Given the description of an element on the screen output the (x, y) to click on. 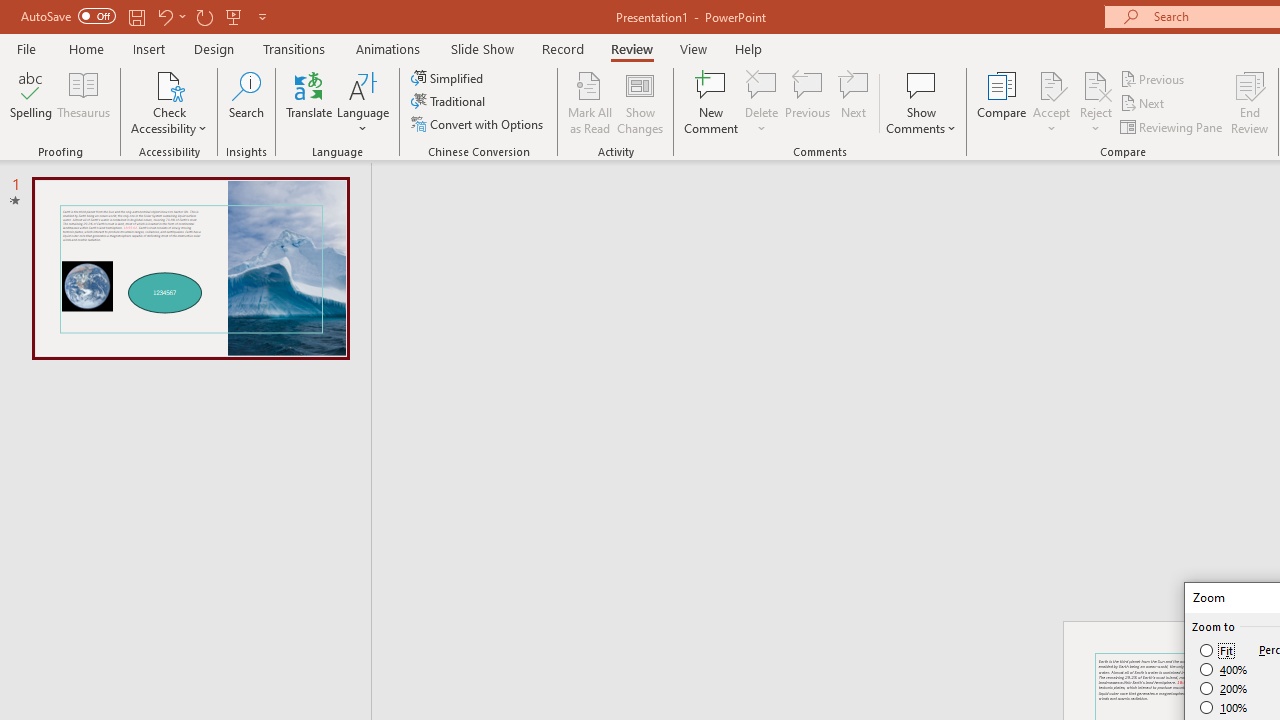
Language (363, 102)
Fit (1217, 650)
200% (1224, 688)
Show Comments (921, 84)
New Comment (711, 102)
Delete (762, 102)
Simplified (449, 78)
Accept Change (1051, 84)
100% (1224, 707)
Previous (1153, 78)
